Given the description of an element on the screen output the (x, y) to click on. 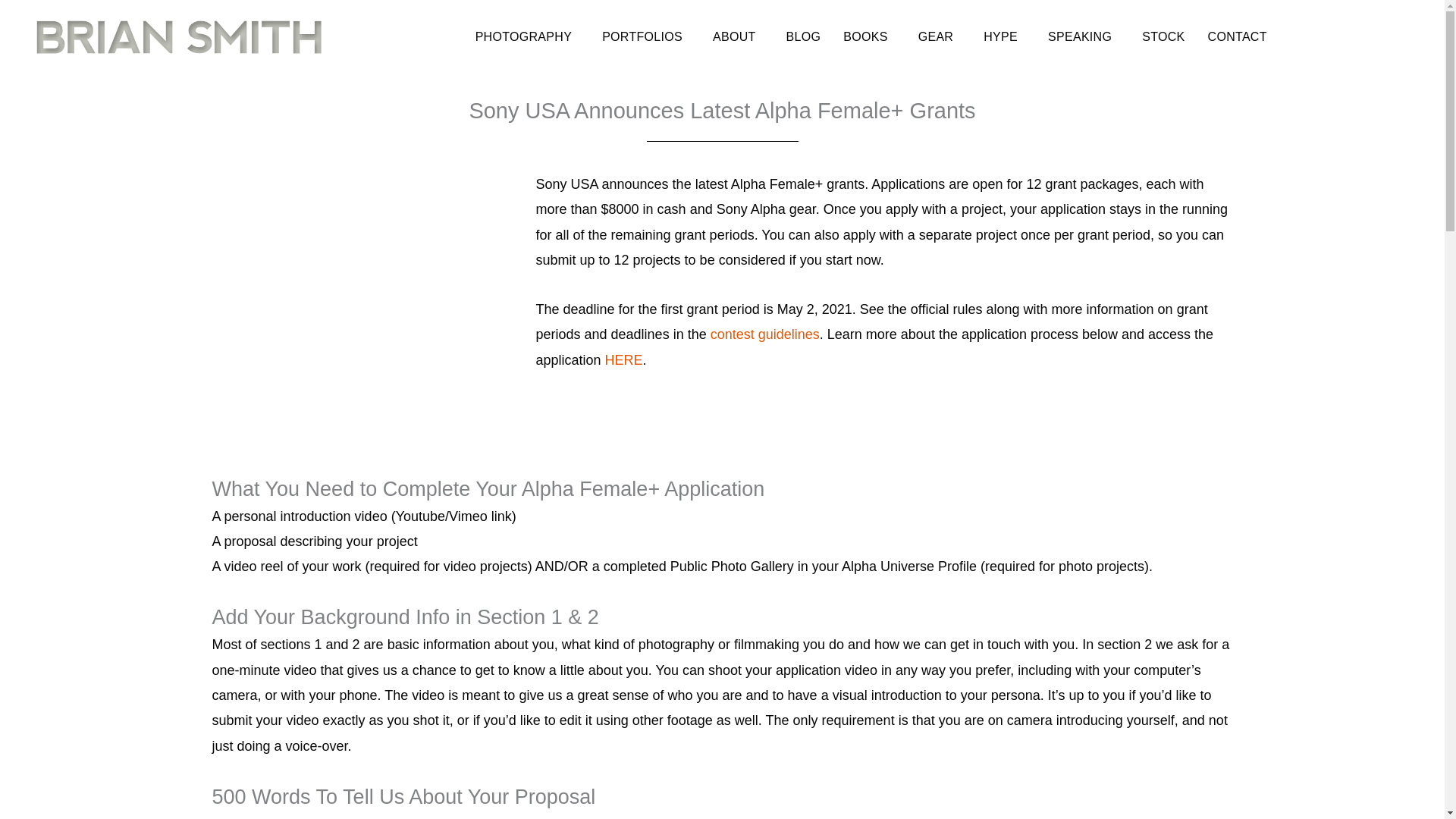
PHOTOGRAPHY (526, 36)
PORTFOLIOS (645, 36)
BLOG (803, 36)
BOOKS (868, 36)
ABOUT (737, 36)
GEAR (940, 36)
